Given the description of an element on the screen output the (x, y) to click on. 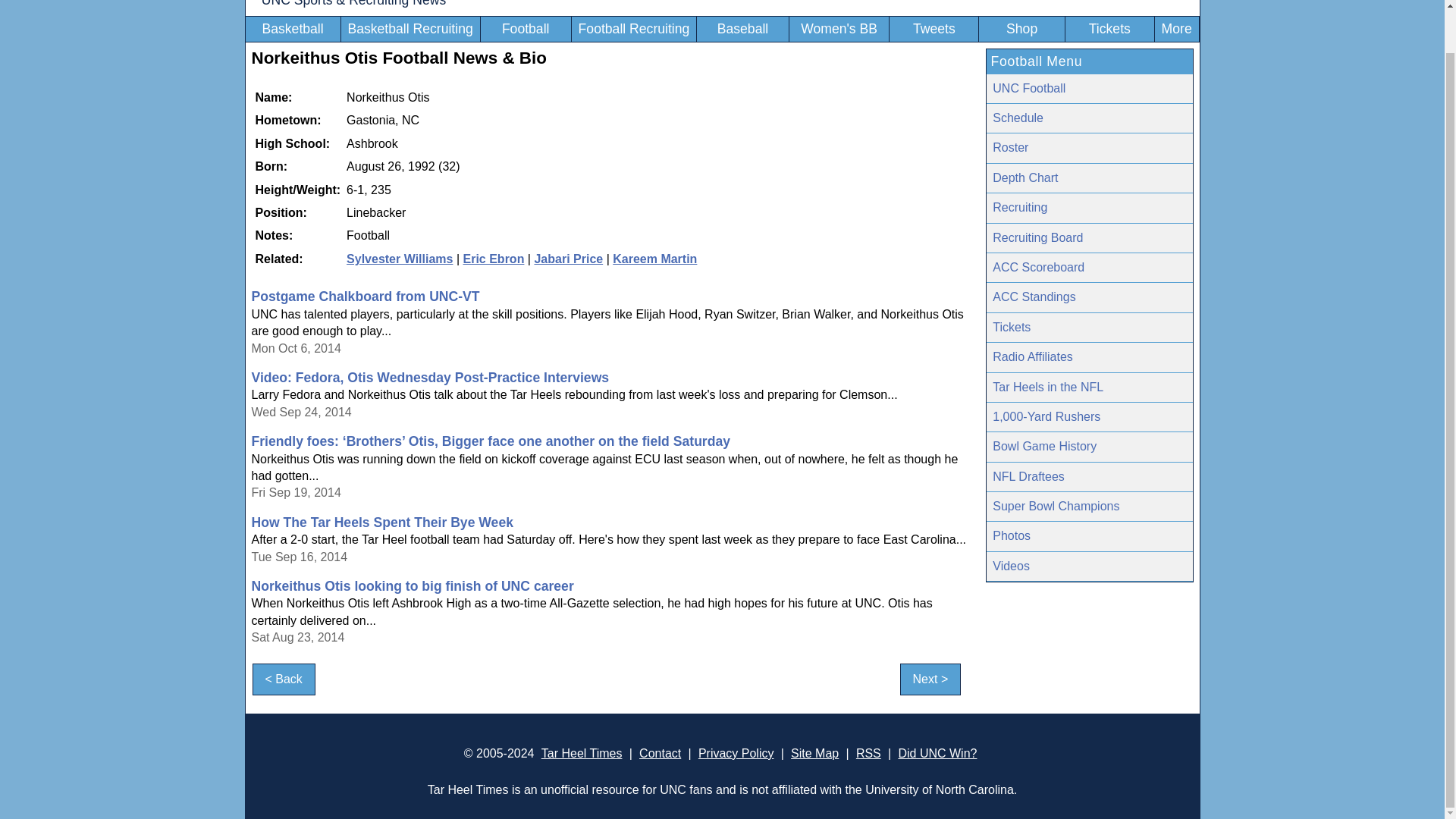
Sylvester Williams (399, 258)
UNC Football (1089, 89)
1,000-Yard Rushers (1089, 417)
Roster (1089, 147)
Basketball Recruiting (410, 28)
Norkeithus Otis looking to big finish of UNC career (412, 585)
More (1176, 28)
ACC Scoreboard (1089, 267)
Shop (1021, 28)
UNC Apparel from Fanatics (1021, 28)
